Given the description of an element on the screen output the (x, y) to click on. 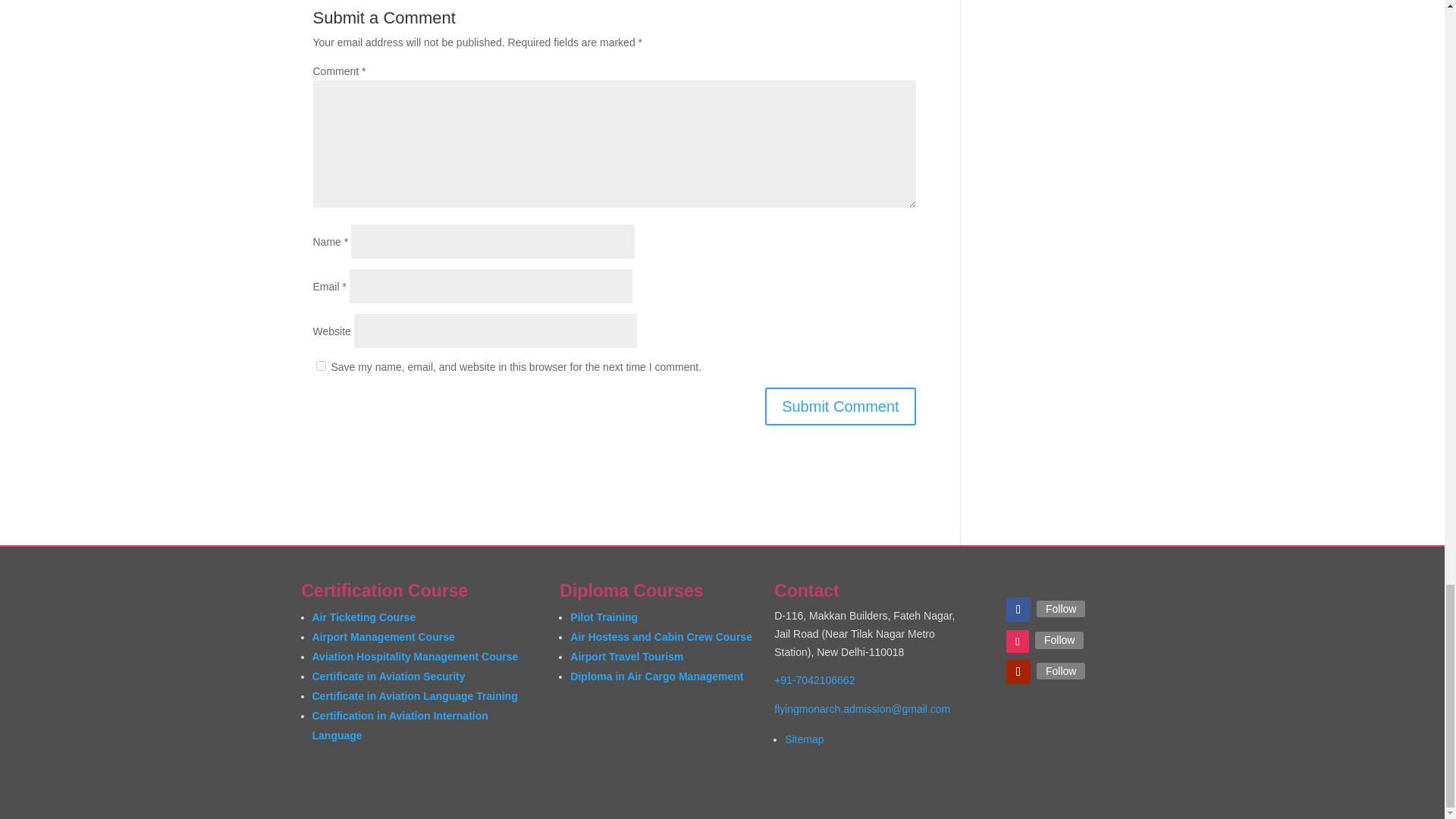
Follow on Facebook (1018, 609)
Submit Comment (840, 406)
yes (319, 366)
Youtube (1060, 670)
Instagram (1059, 639)
Follow on Instagram (1017, 640)
Follow on Youtube (1018, 671)
Facebook (1060, 608)
